Given the description of an element on the screen output the (x, y) to click on. 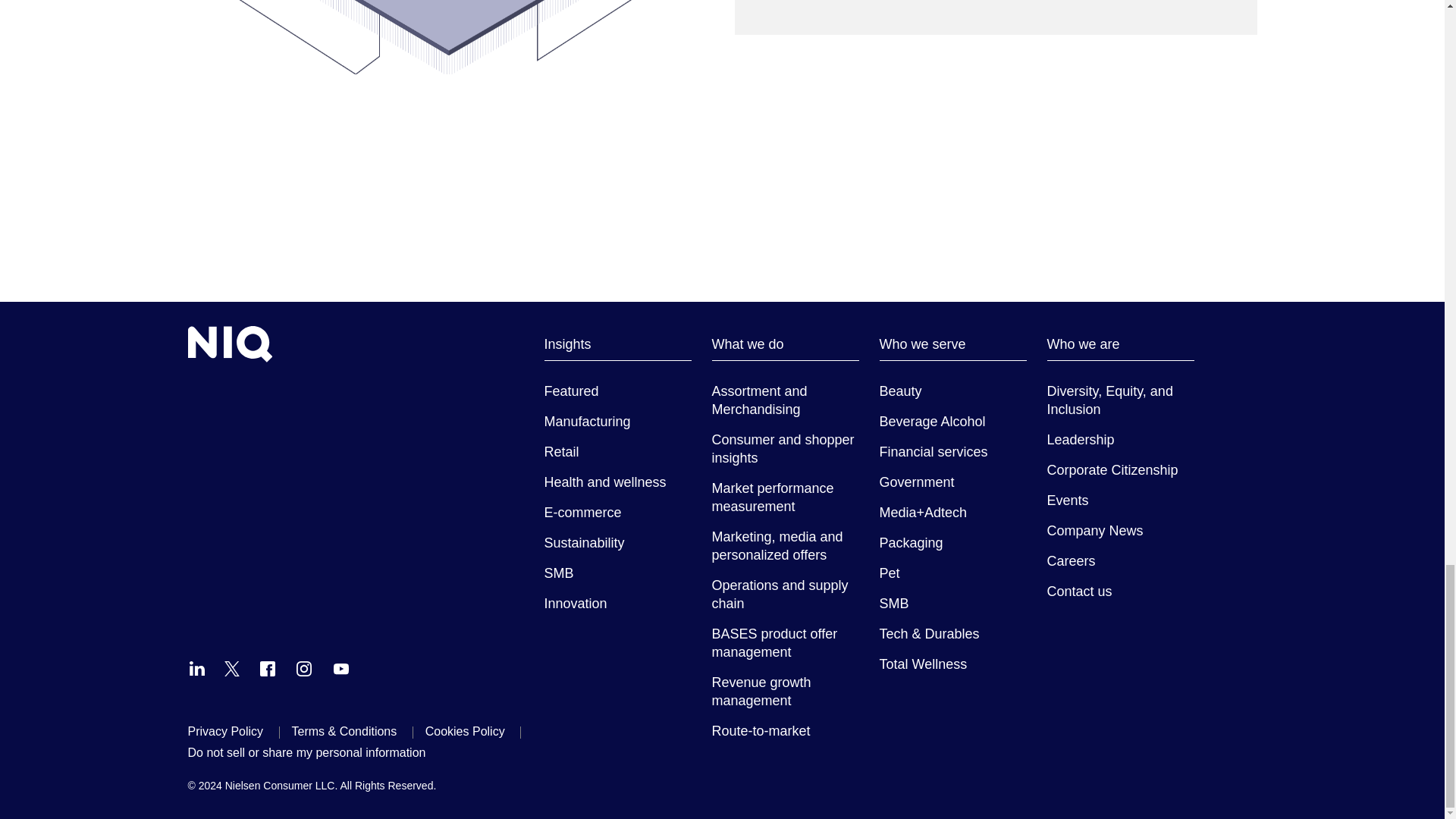
Facebook (266, 669)
YouTube (340, 669)
Linkedin (196, 669)
Instagram (304, 669)
